Given the description of an element on the screen output the (x, y) to click on. 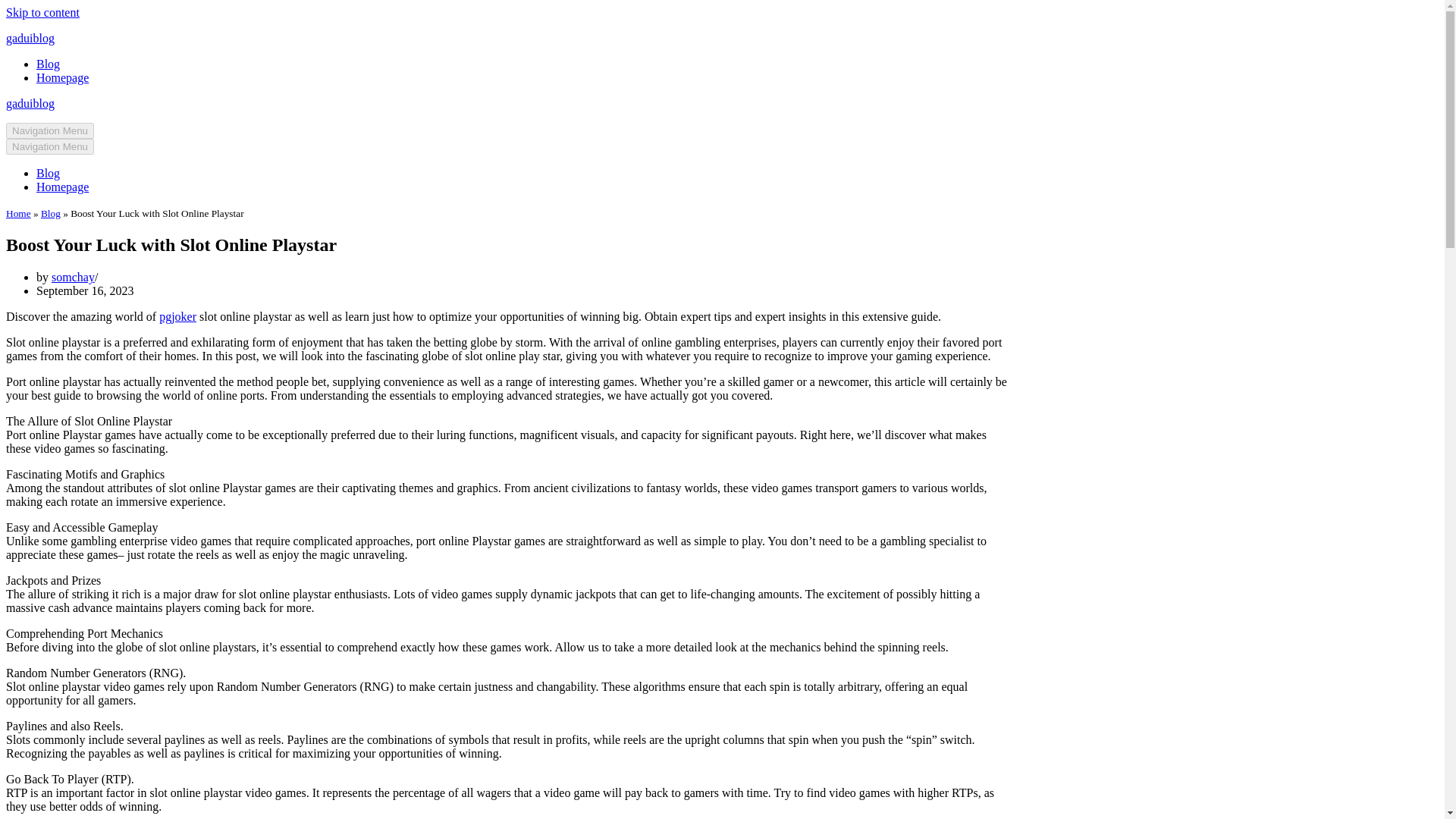
Blog (47, 63)
pgjoker (177, 316)
Blog (50, 213)
Blog (47, 173)
Homepage (62, 186)
Navigation Menu (49, 146)
Homepage (62, 77)
somchay (72, 277)
Home (17, 213)
Posts by somchay (72, 277)
Skip to content (42, 11)
Navigation Menu (49, 130)
